Given the description of an element on the screen output the (x, y) to click on. 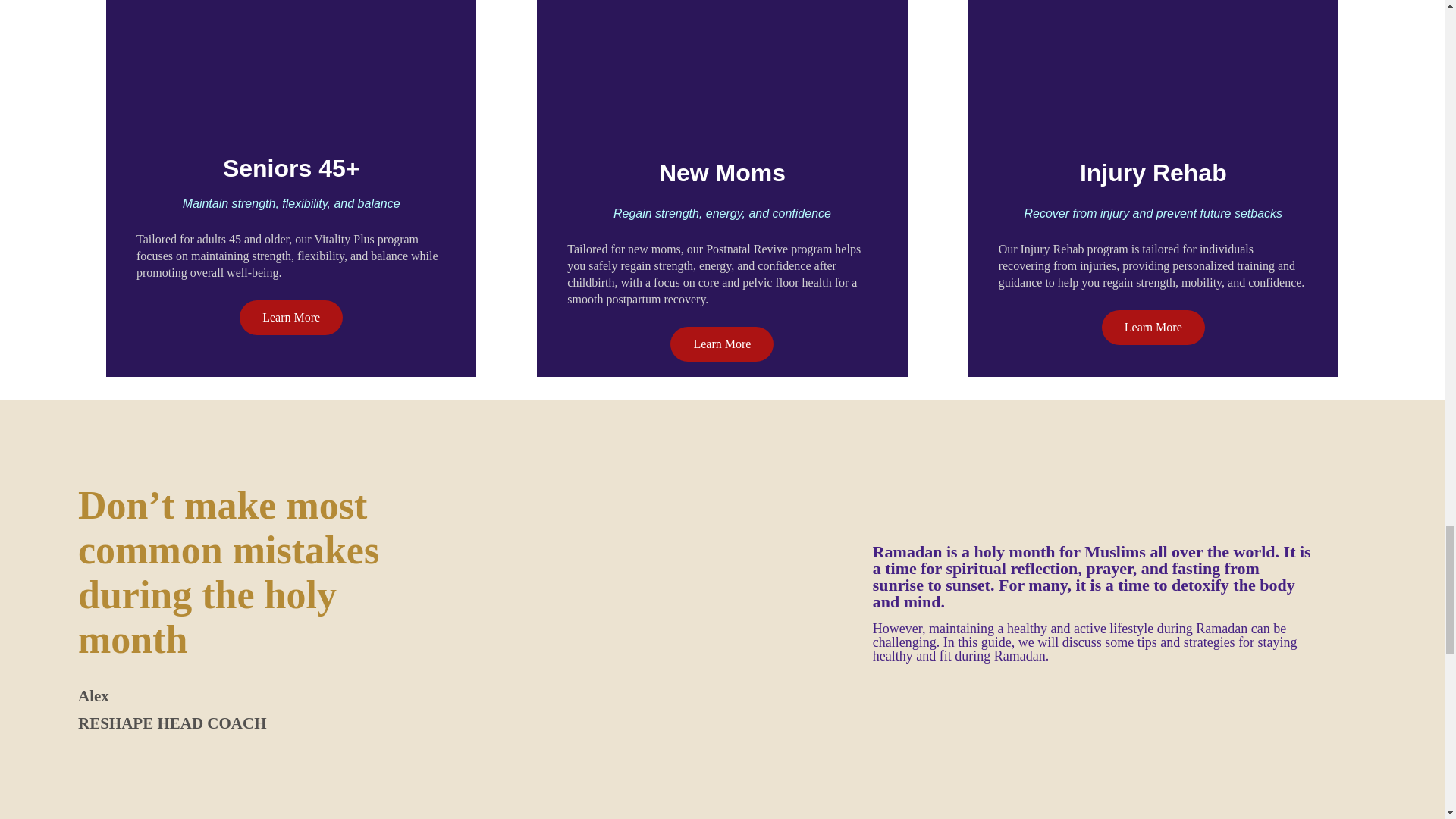
Learn More (291, 317)
Learn More (1153, 327)
Learn More (721, 343)
